Given the description of an element on the screen output the (x, y) to click on. 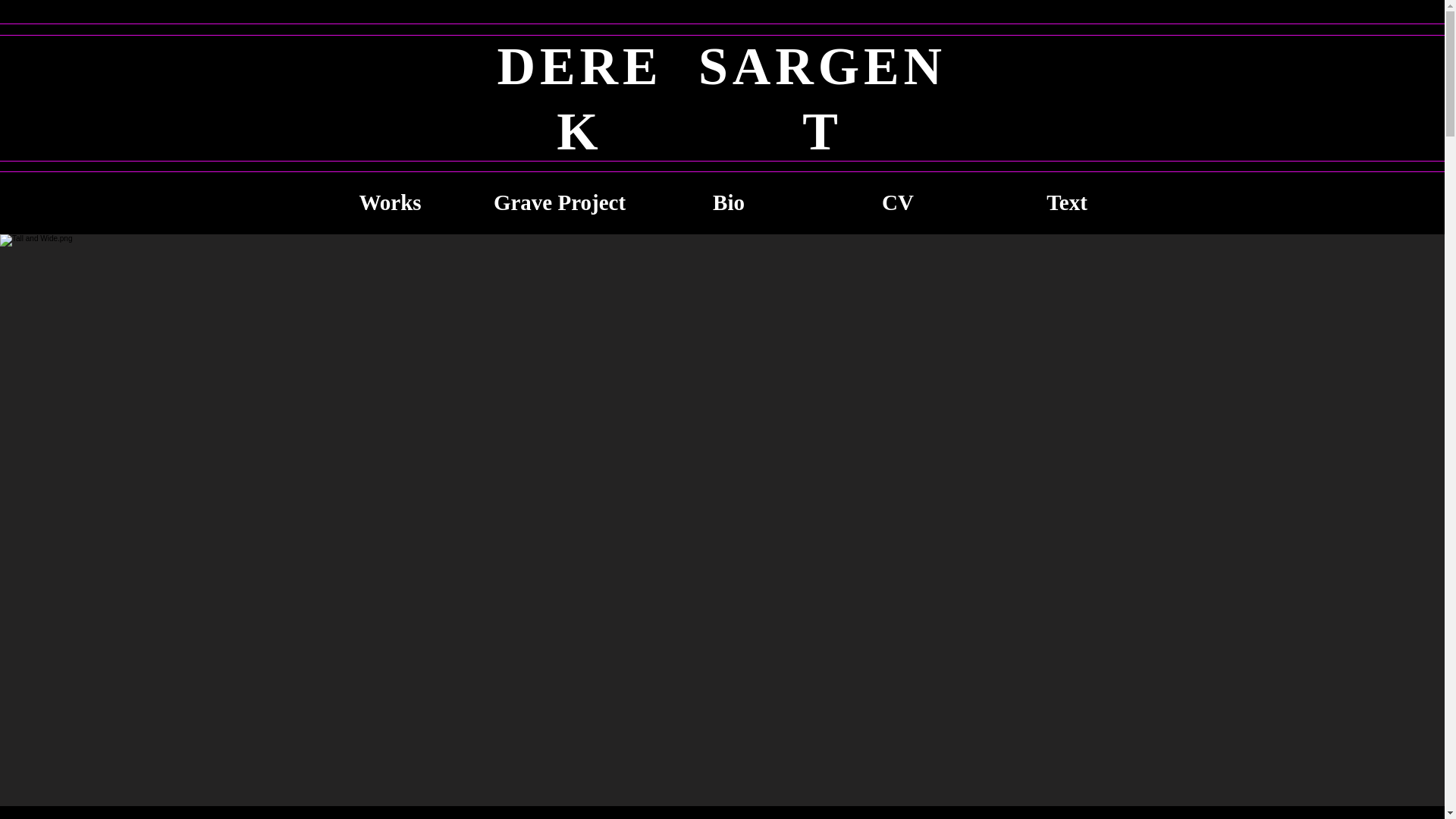
SARGENT Element type: text (822, 101)
Bio Element type: text (728, 202)
Text Element type: text (1066, 202)
CV Element type: text (897, 202)
Works Element type: text (389, 202)
DEREK Element type: text (579, 101)
Grave Project Element type: text (558, 202)
